Given the description of an element on the screen output the (x, y) to click on. 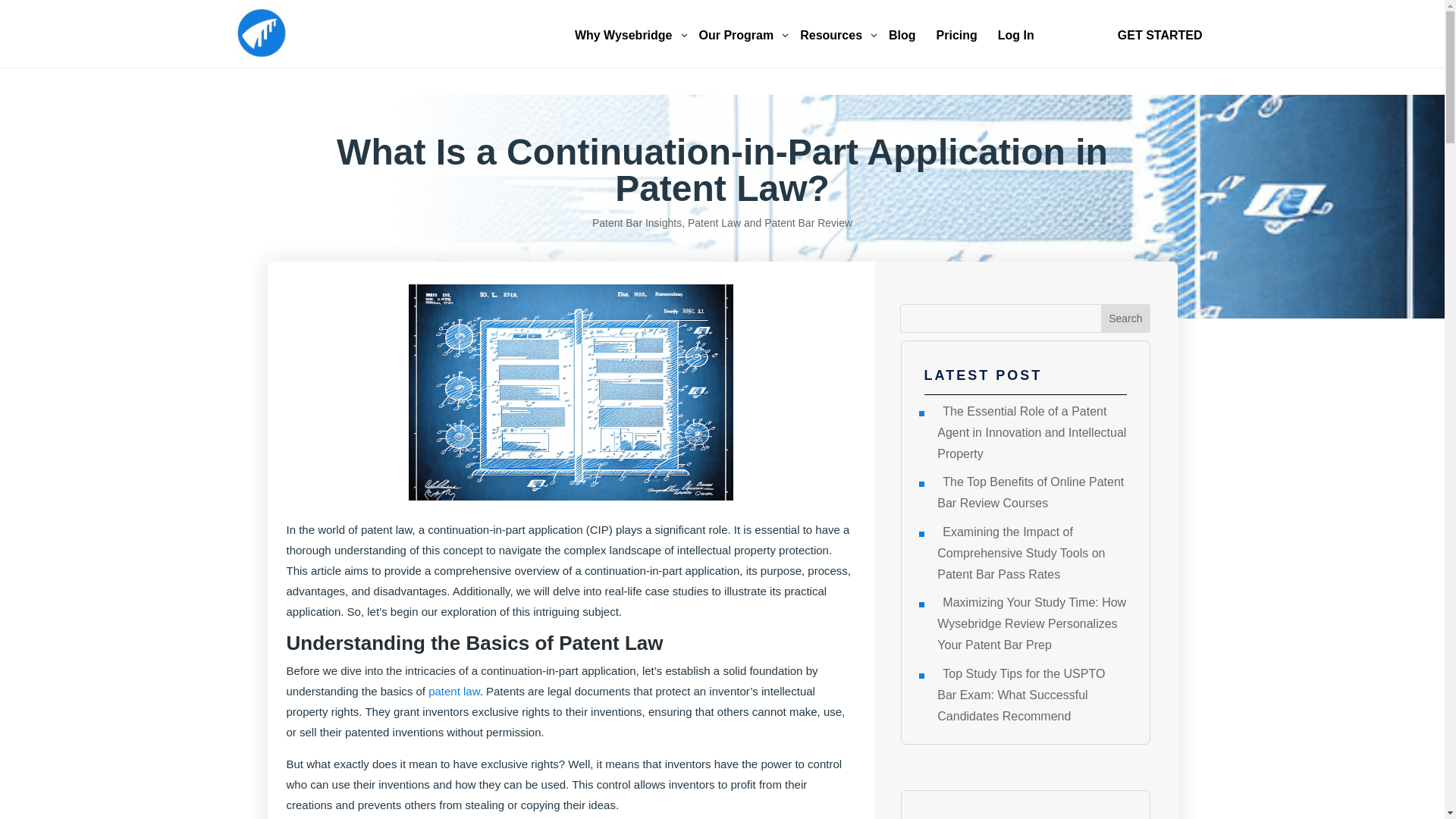
Search (1125, 318)
Search (742, 35)
Wysebridge New Blue 80 (1125, 318)
patent law (260, 32)
